Given the description of an element on the screen output the (x, y) to click on. 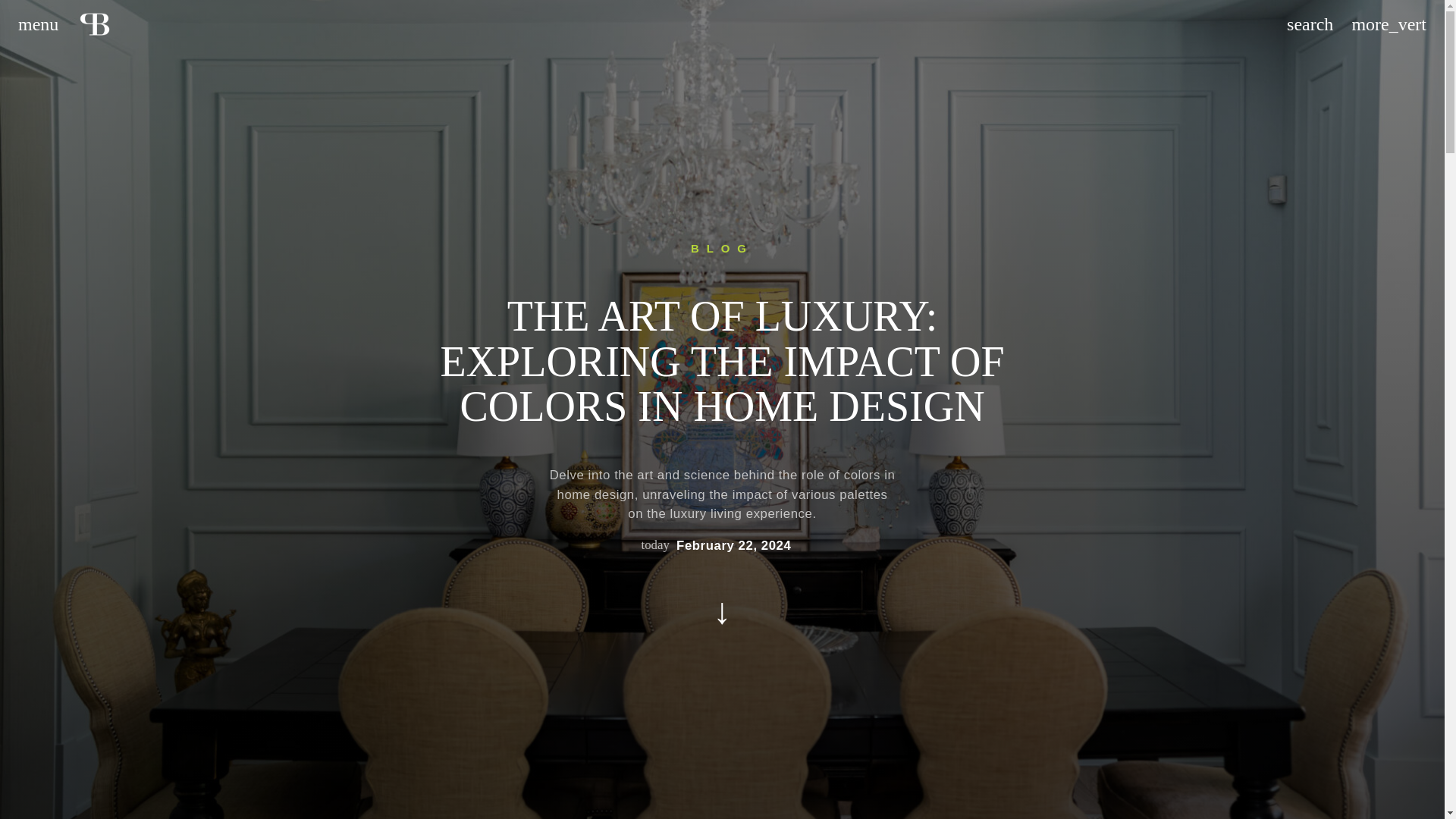
menu (38, 24)
Toggle drawer (38, 24)
search (1310, 24)
Learn More (722, 611)
February 22, 2024 (733, 545)
Search (1310, 24)
